Given the description of an element on the screen output the (x, y) to click on. 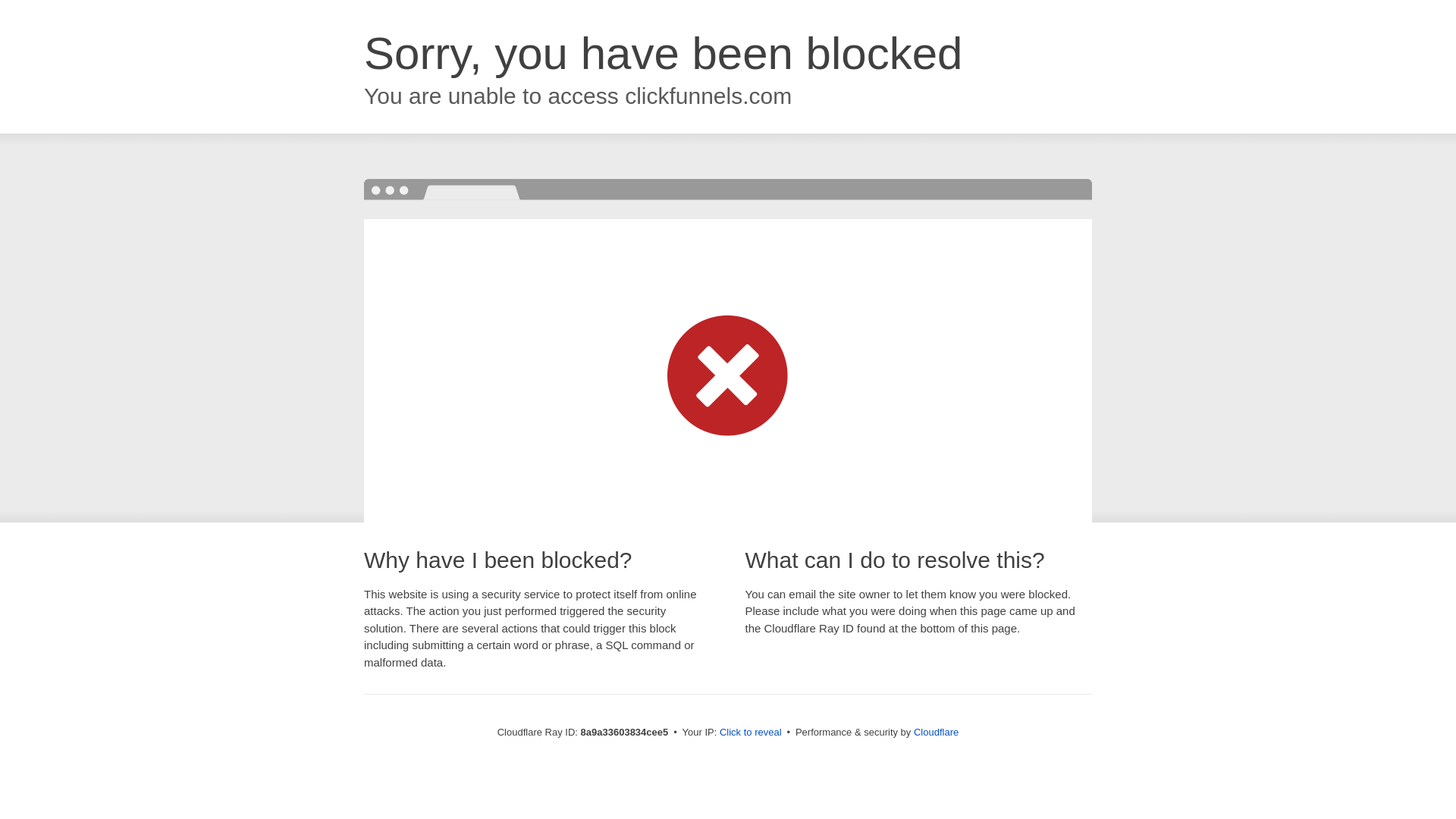
Click to reveal (750, 732)
Cloudflare (936, 731)
